Given the description of an element on the screen output the (x, y) to click on. 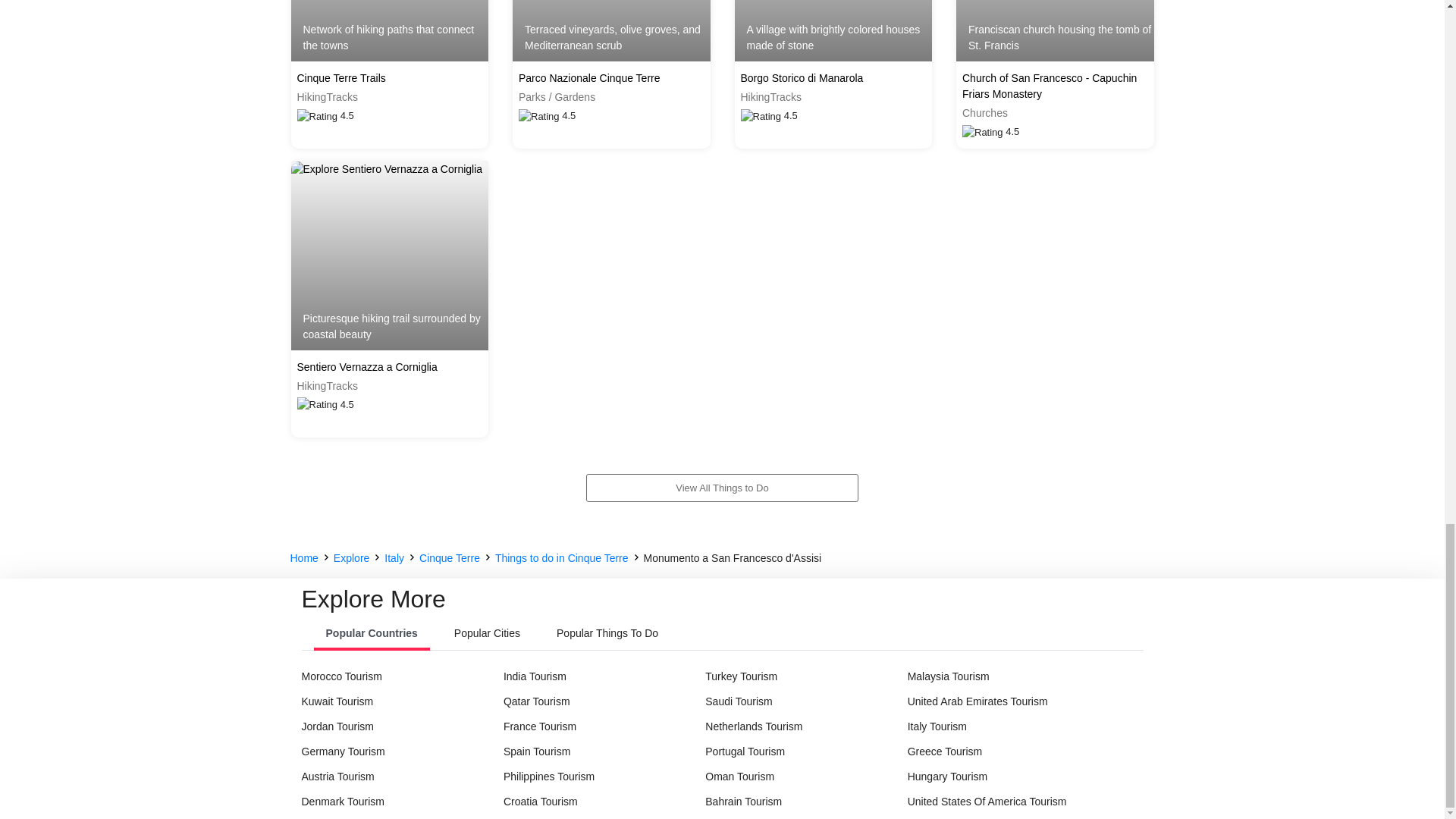
HikingTracks (390, 385)
A village with brightly colored houses made of stone (832, 30)
Parco Nazionale Cinque Terre (611, 78)
Sentiero Vernazza a Corniglia (390, 367)
Things to do in Cinque Terre (561, 558)
Borgo Storico di Manarola (832, 78)
Explore (351, 558)
Network of hiking paths that connect the towns (390, 30)
Cinque Terre (449, 558)
Terraced vineyards, olive groves, and Mediterranean scrub (611, 30)
